Given the description of an element on the screen output the (x, y) to click on. 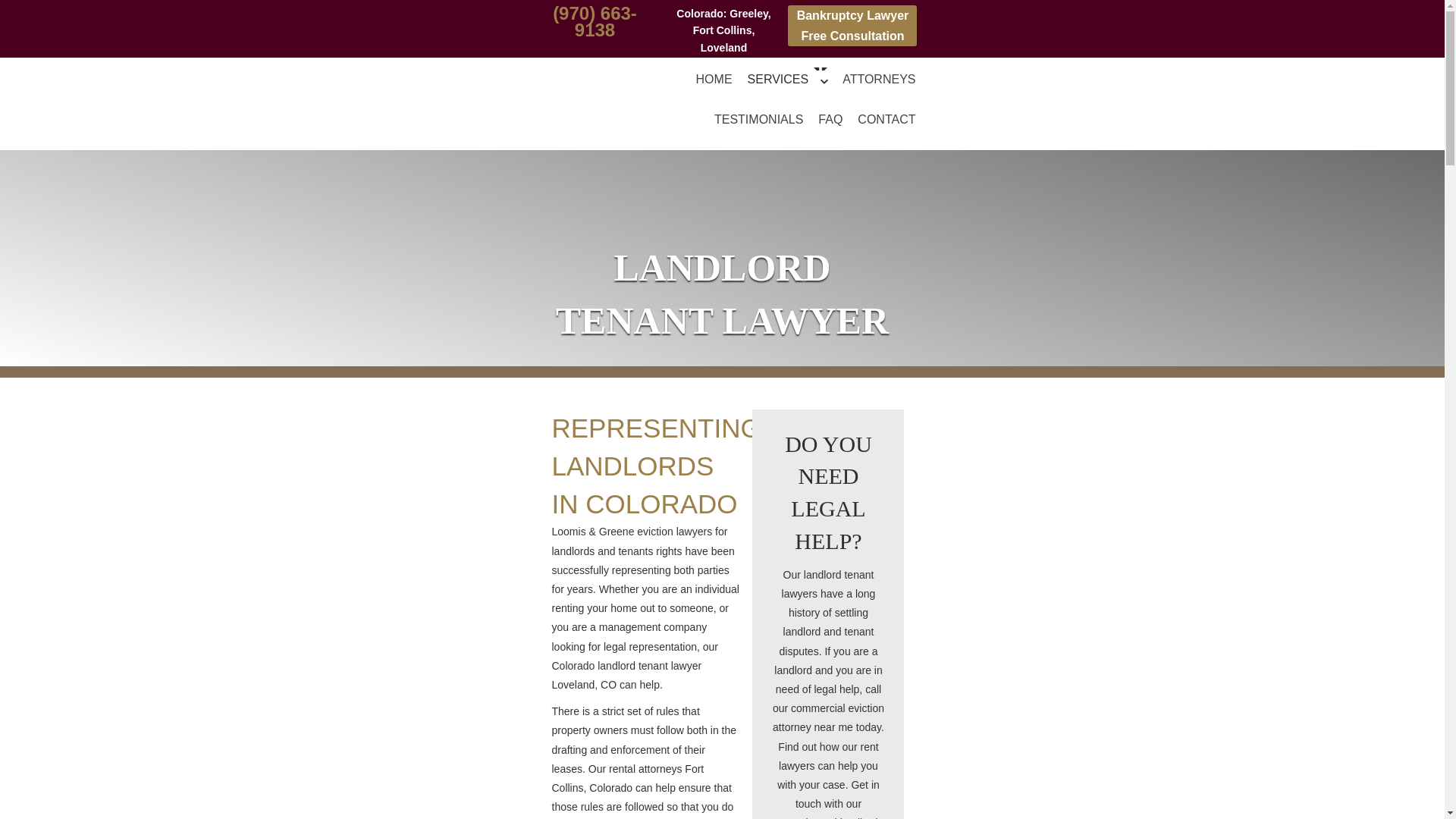
Bankruptcy Lawyer Free Consultation (852, 25)
